Given the description of an element on the screen output the (x, y) to click on. 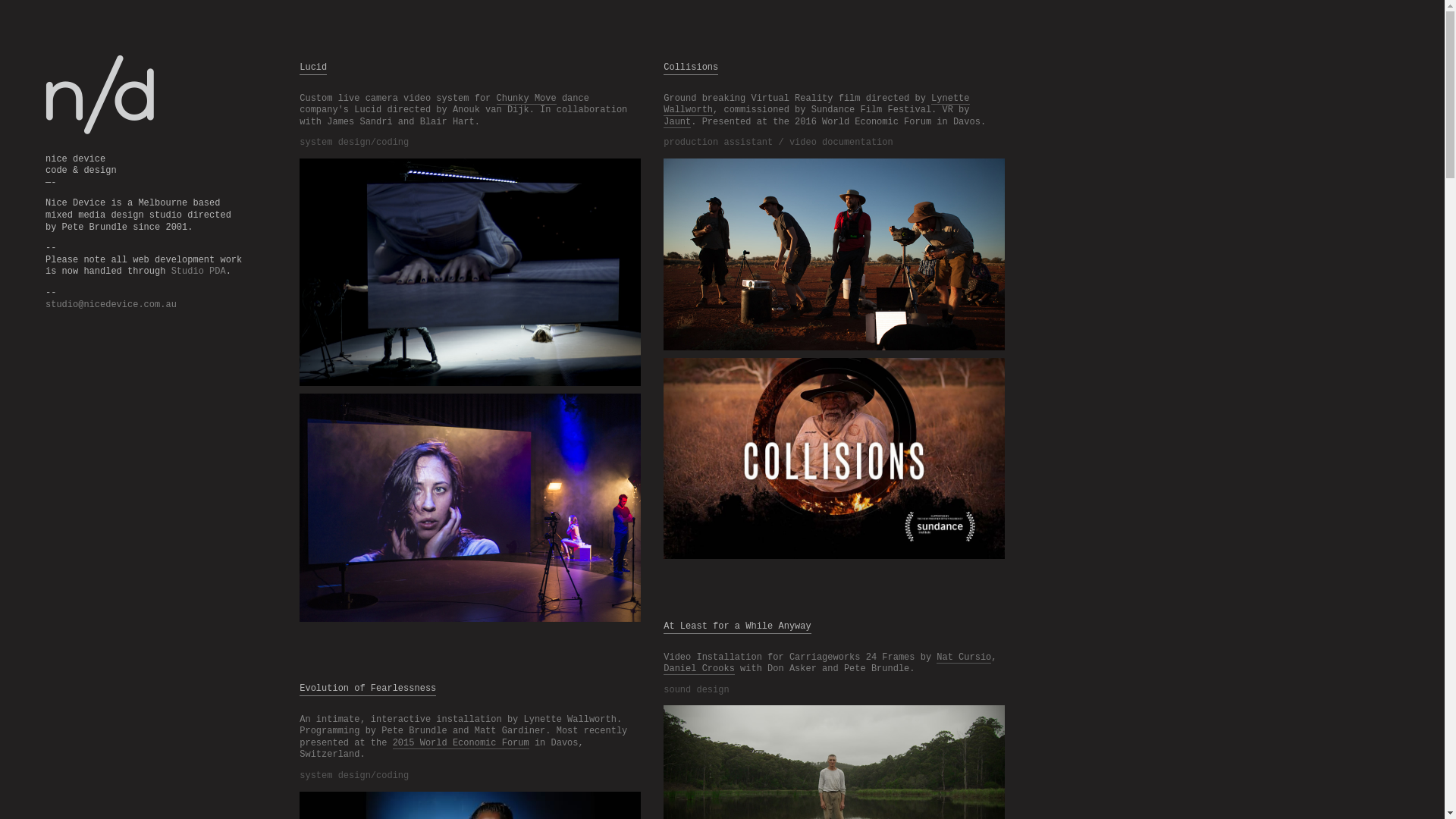
Chunky Move Element type: text (525, 98)
2015 World Economic Forum Element type: text (460, 743)
Lynette Wallworth Element type: text (816, 104)
studio@nicedevice.com.au Element type: text (110, 304)
Jaunt Element type: text (676, 122)
Studio PDA Element type: text (198, 271)
Nat Cursio Element type: text (963, 657)
Daniel Crooks Element type: text (698, 668)
